Given the description of an element on the screen output the (x, y) to click on. 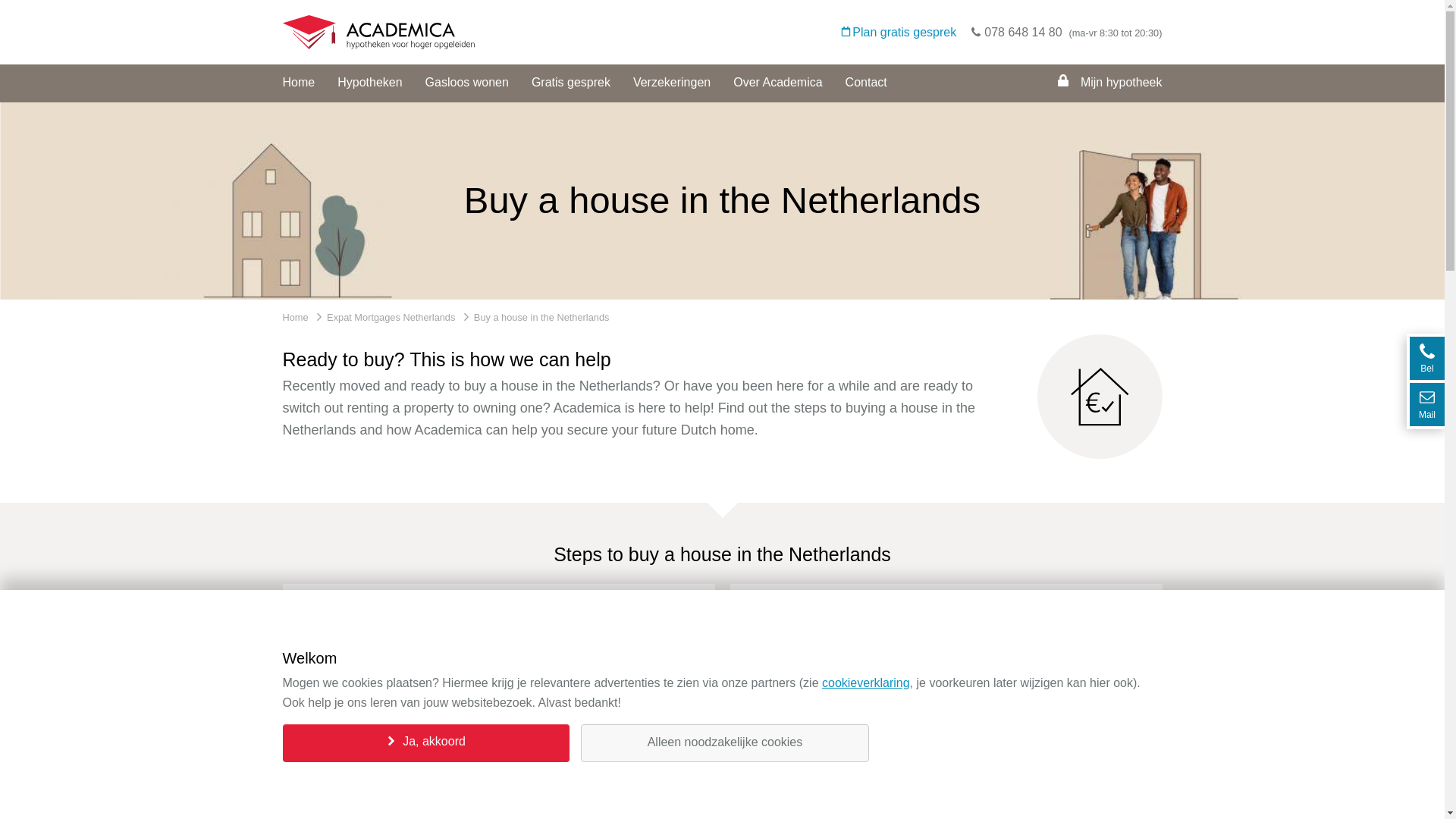
Hypotheken (369, 83)
Contact (865, 83)
Gasloos wonen (466, 83)
Home (294, 317)
Gratis gesprek (570, 83)
Plan gratis gesprek (898, 32)
Make a free appointment (467, 798)
Expat Mortgages Netherlands (390, 317)
Mijn hypotheek (1109, 83)
Over Academica (777, 83)
Academica: hypotheken voor hoger opgeleiden (378, 44)
Verzekeringen (671, 83)
